Given the description of an element on the screen output the (x, y) to click on. 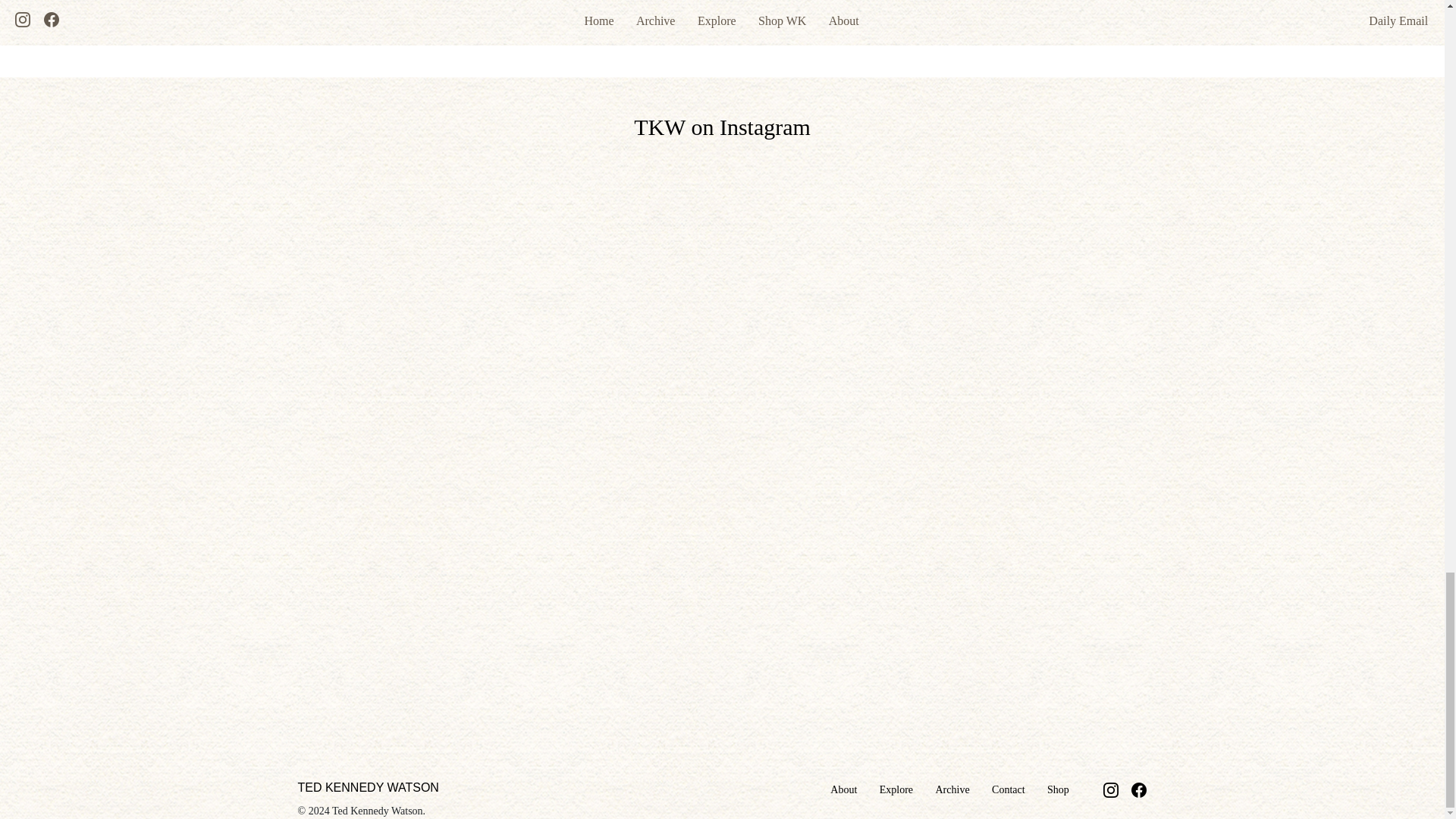
Design (563, 2)
Art (530, 2)
Entertaining (614, 2)
Flowers (668, 2)
Love (733, 2)
Life (704, 2)
TKW on Instagram (722, 126)
